Given the description of an element on the screen output the (x, y) to click on. 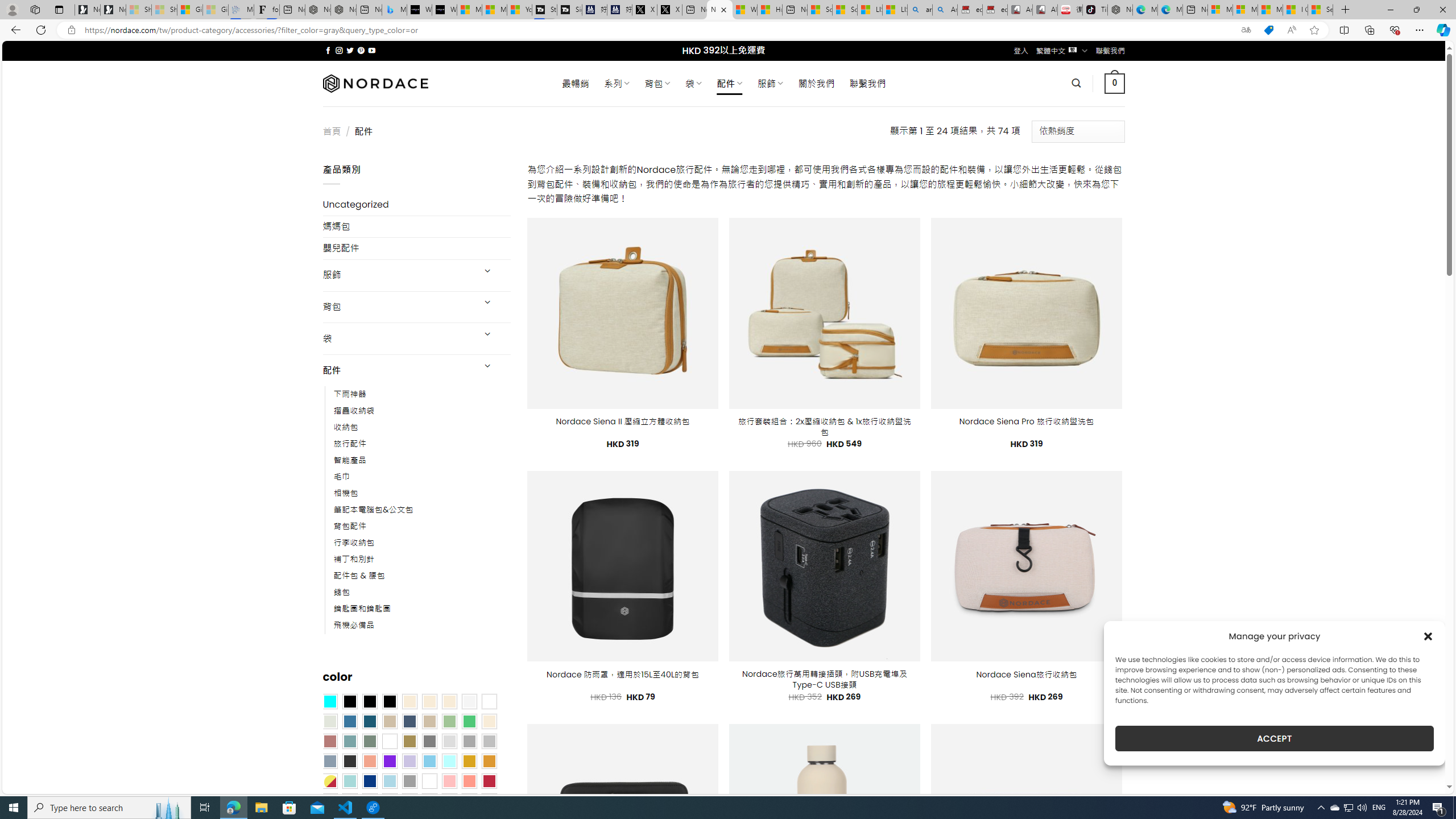
X (669, 9)
Huge shark washes ashore at New York City beach | Watch (769, 9)
Nordace - Best Sellers (1119, 9)
